Given the description of an element on the screen output the (x, y) to click on. 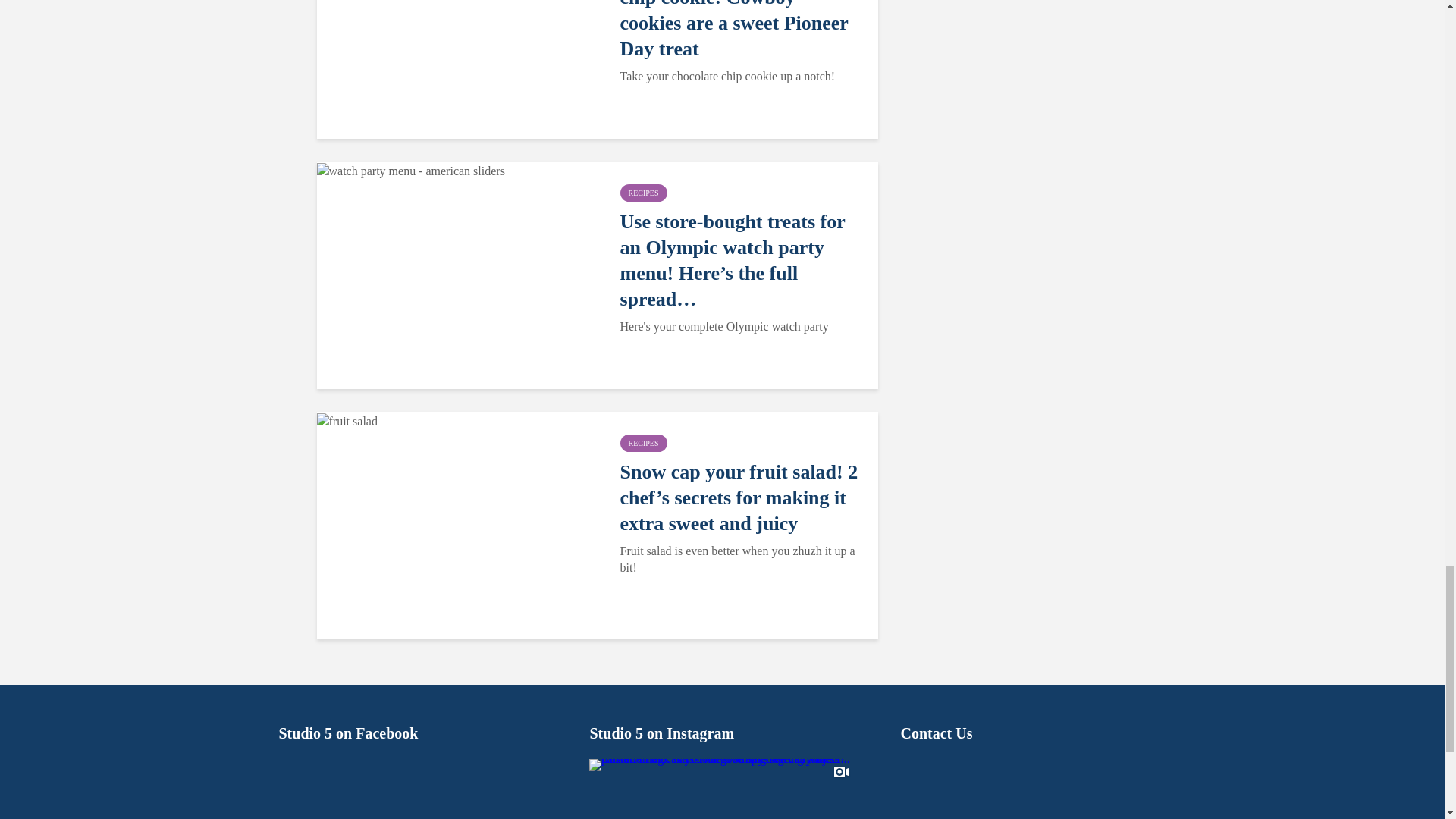
RECIPES (643, 443)
RECIPES (643, 192)
